Given the description of an element on the screen output the (x, y) to click on. 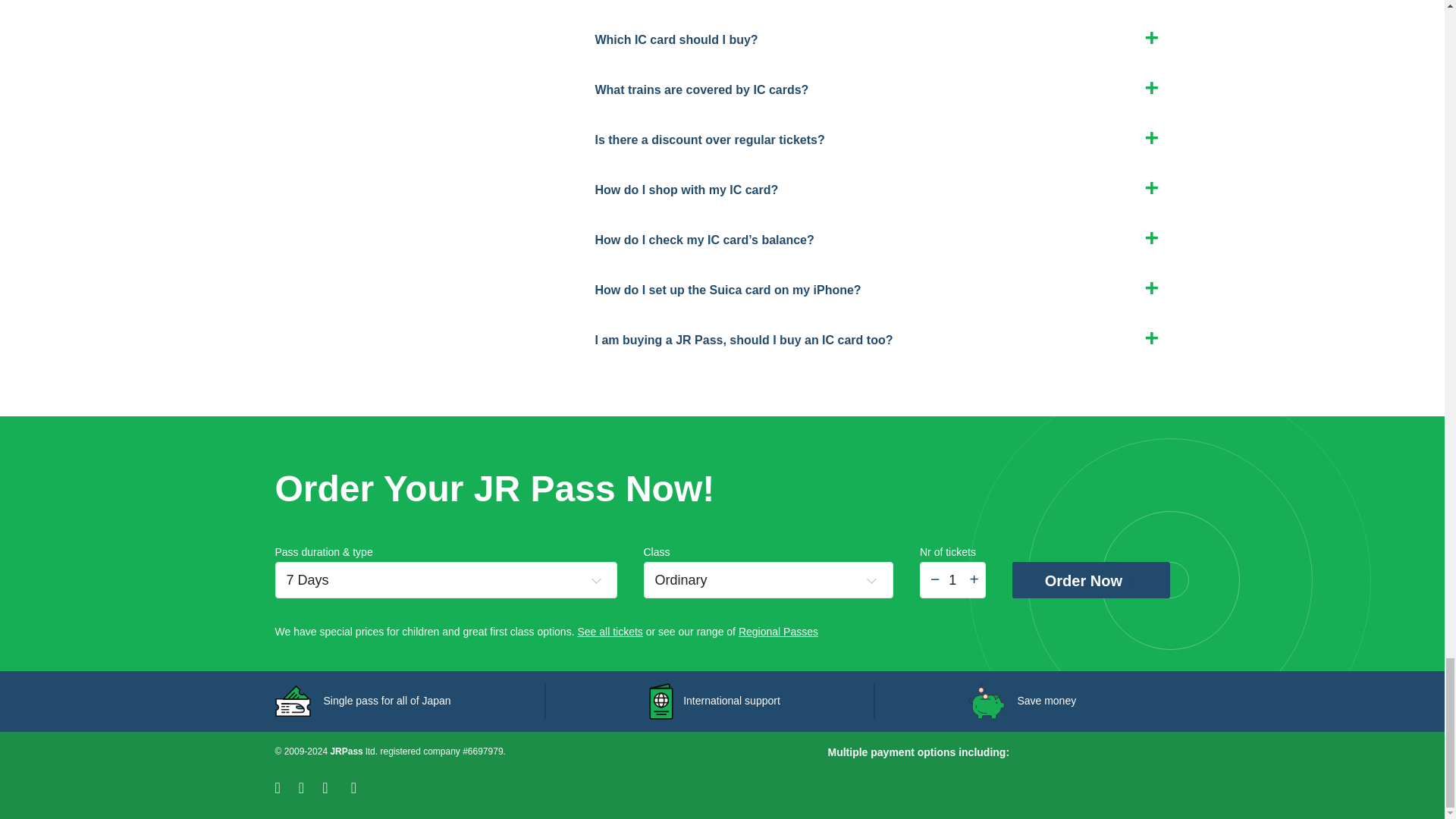
facebook (286, 787)
1 (952, 579)
twitter (309, 787)
instagram (333, 787)
